Given the description of an element on the screen output the (x, y) to click on. 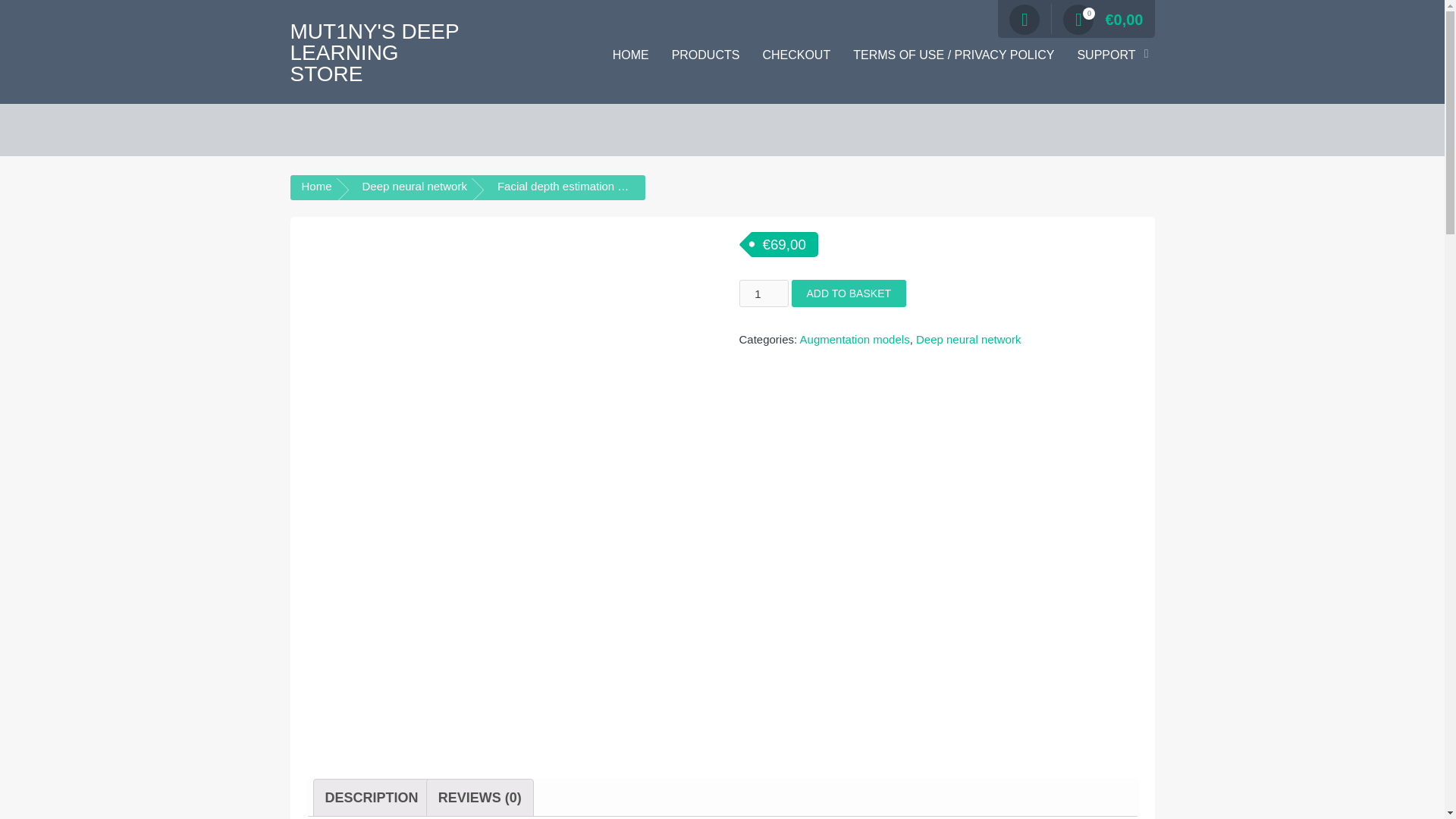
Deep neural network (967, 338)
1 (762, 293)
Home (316, 185)
DESCRIPTION (370, 797)
MUT1NY'S DEEP LEARNING STORE (373, 52)
Qty (762, 293)
SUPPORT (1109, 55)
HOME (631, 55)
Deep neural network (414, 185)
Augmentation models (854, 338)
CHECKOUT (796, 55)
Login (906, 182)
ADD TO BASKET (849, 293)
PRODUCTS (706, 55)
